Given the description of an element on the screen output the (x, y) to click on. 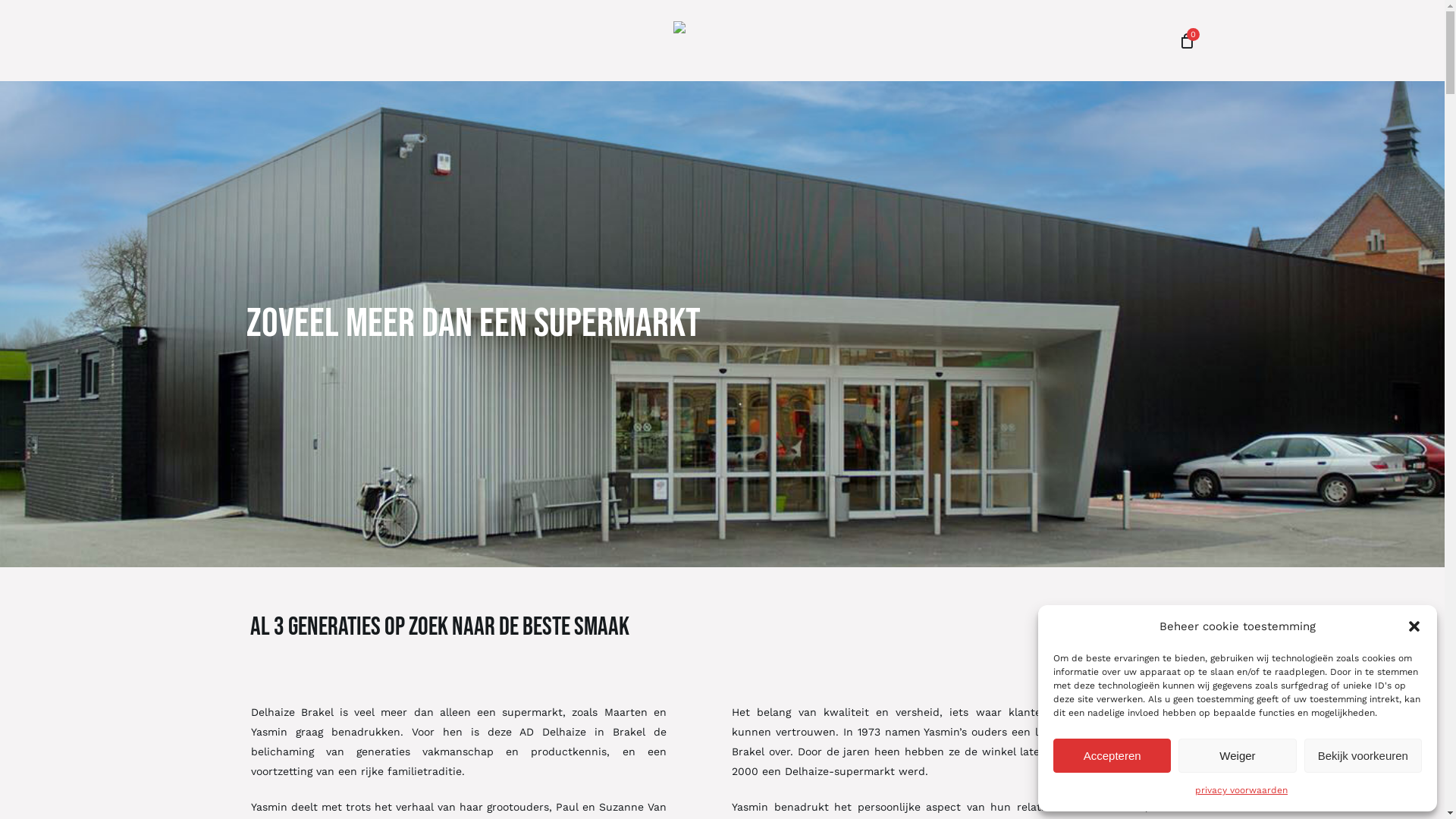
0 Element type: text (1186, 39)
Accepteren Element type: text (1111, 755)
Weiger Element type: text (1236, 755)
Bekijk voorkeuren Element type: text (1362, 755)
privacy voorwaarden Element type: text (1241, 790)
